Given the description of an element on the screen output the (x, y) to click on. 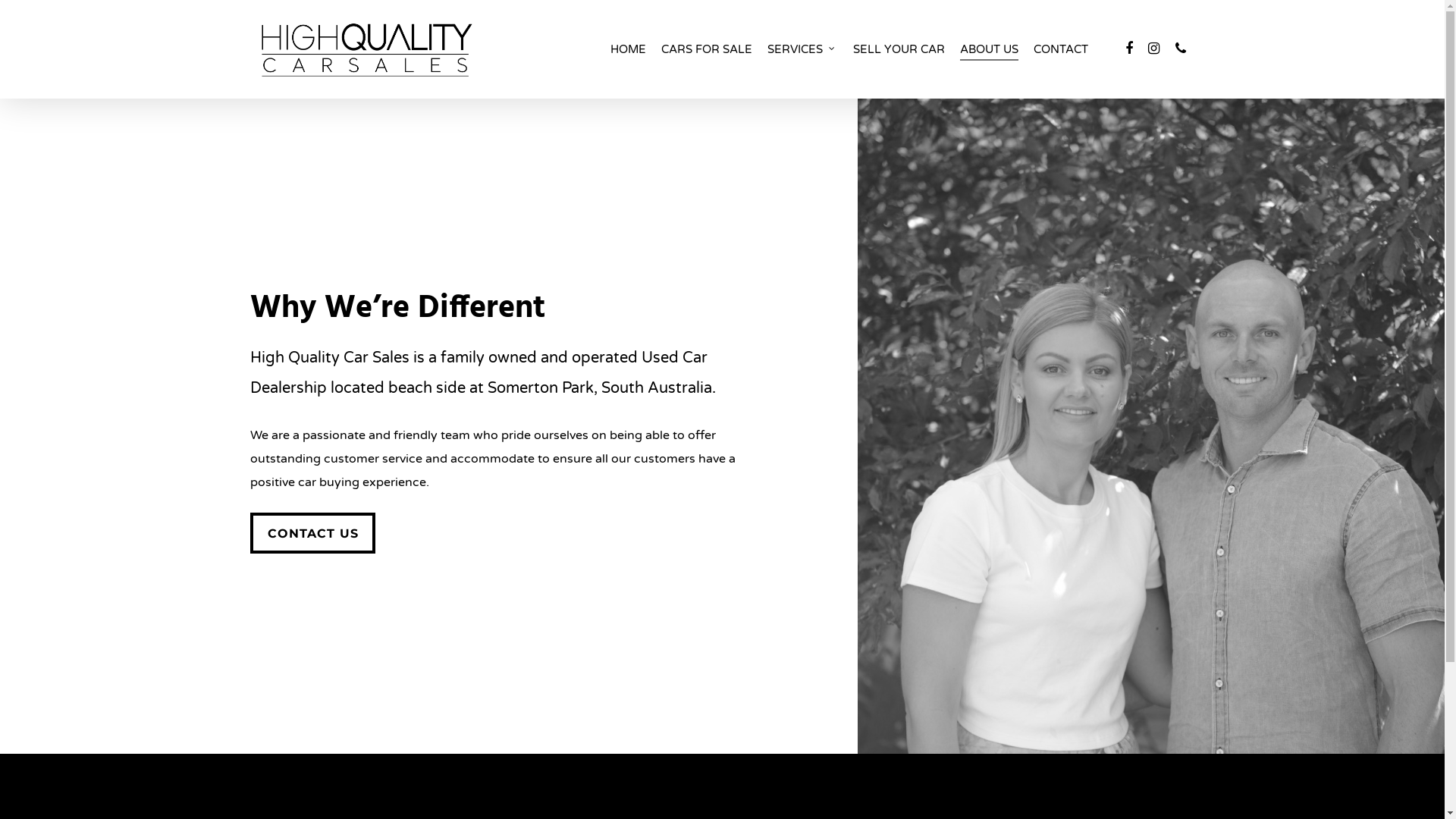
SELL YOUR CAR Element type: text (898, 49)
messenger Element type: text (722, 727)
instagram Element type: text (669, 727)
CONTACT Element type: text (1060, 49)
email Element type: text (828, 727)
Digital Nectar Element type: text (681, 672)
SERVICES Element type: text (802, 49)
FACEBOOK Element type: text (1128, 48)
CARS FOR SALE Element type: text (706, 49)
ABOUT US Element type: text (989, 49)
facebook Element type: text (616, 727)
INSTAGRAM Element type: text (1153, 48)
CONTACT US
CONTACT US Element type: text (312, 532)
phone Element type: text (775, 727)
HOME Element type: text (628, 49)
Terms Of Use Element type: text (767, 634)
Privacy Policy Element type: text (678, 634)
PHONE Element type: text (1180, 48)
